Given the description of an element on the screen output the (x, y) to click on. 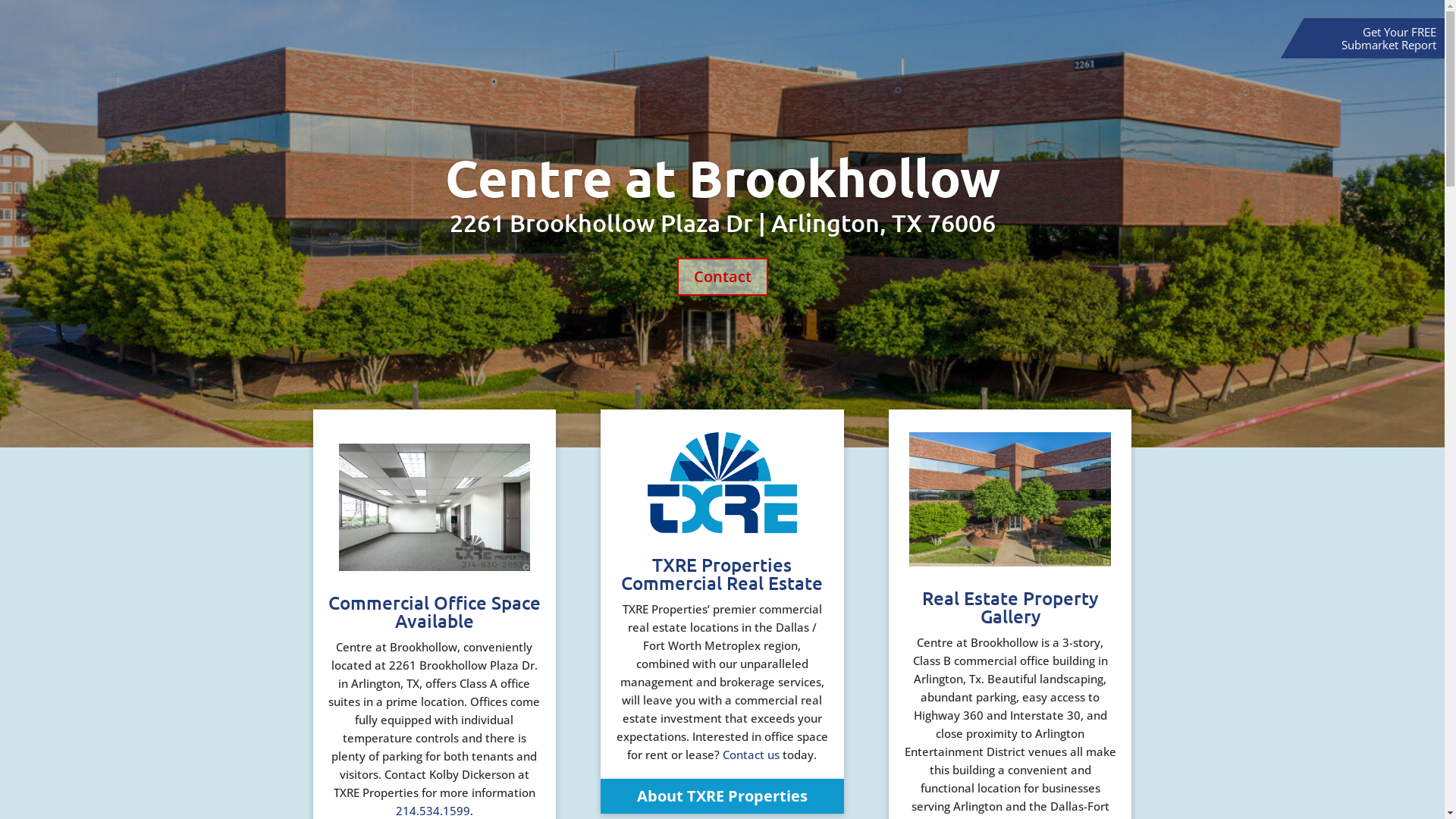
About TXRE Properties Element type: text (721, 795)
214.534.1599 Element type: text (432, 810)
Centre at Brookhollow Element type: text (721, 176)
Get Your FREE
Submarket Report Element type: text (1388, 38)
Contact us Element type: text (750, 754)
Contact Element type: text (721, 276)
